Given the description of an element on the screen output the (x, y) to click on. 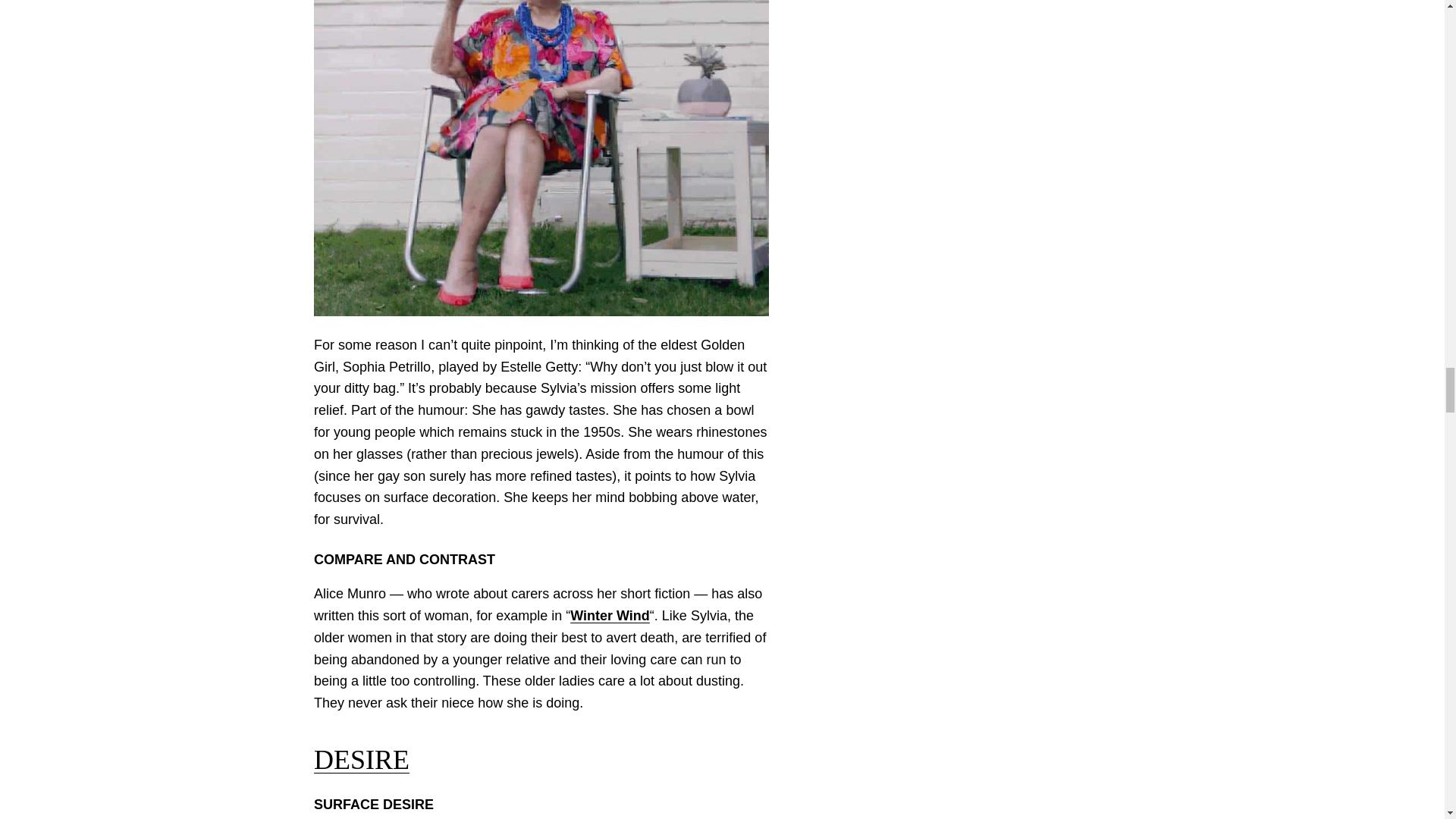
Winter Wind (609, 615)
DESIRE (361, 759)
